Given the description of an element on the screen output the (x, y) to click on. 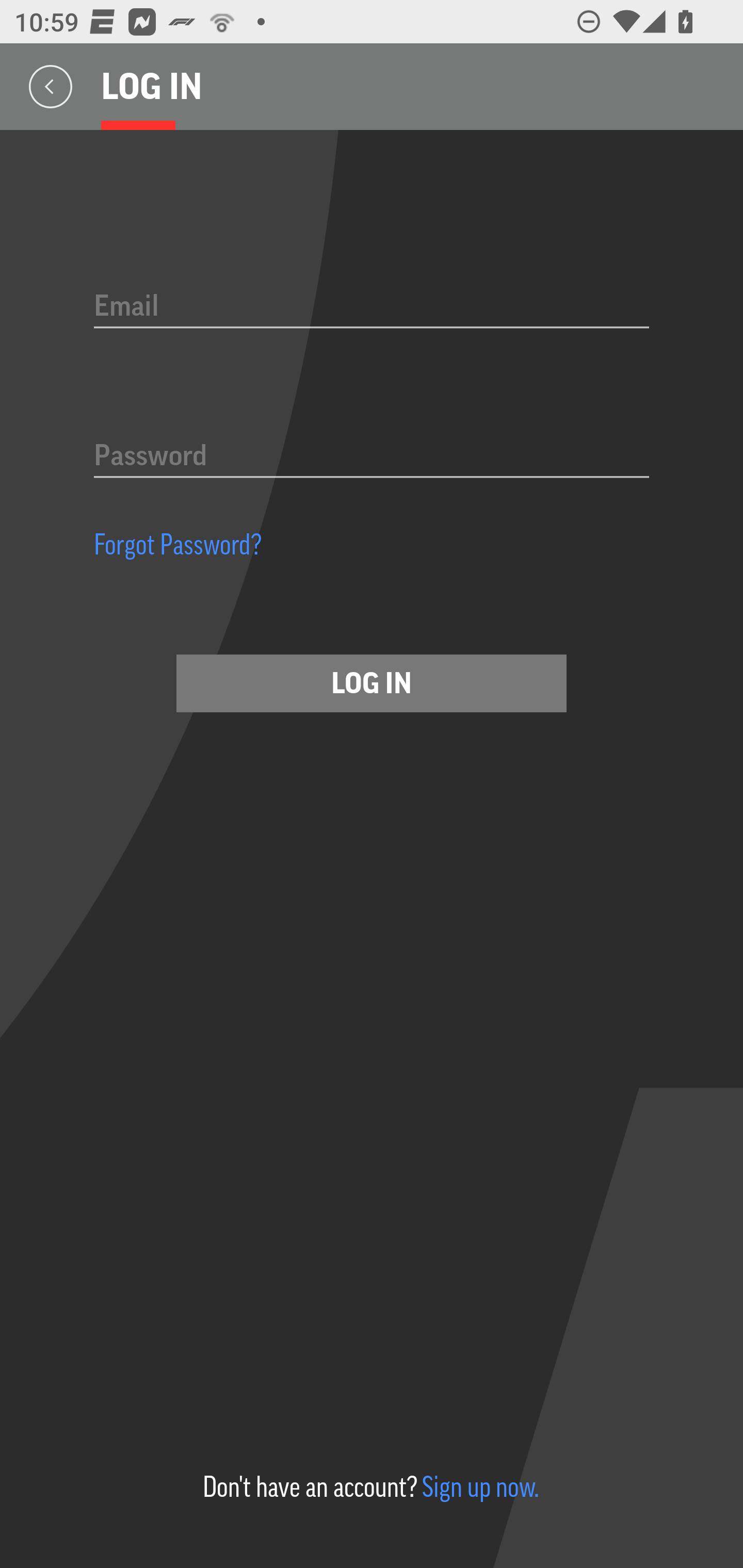
Email (371, 306)
Password (371, 456)
Forgot Password? (177, 543)
LOG IN (371, 682)
Don't have an account? Sign up now. (370, 1485)
